Given the description of an element on the screen output the (x, y) to click on. 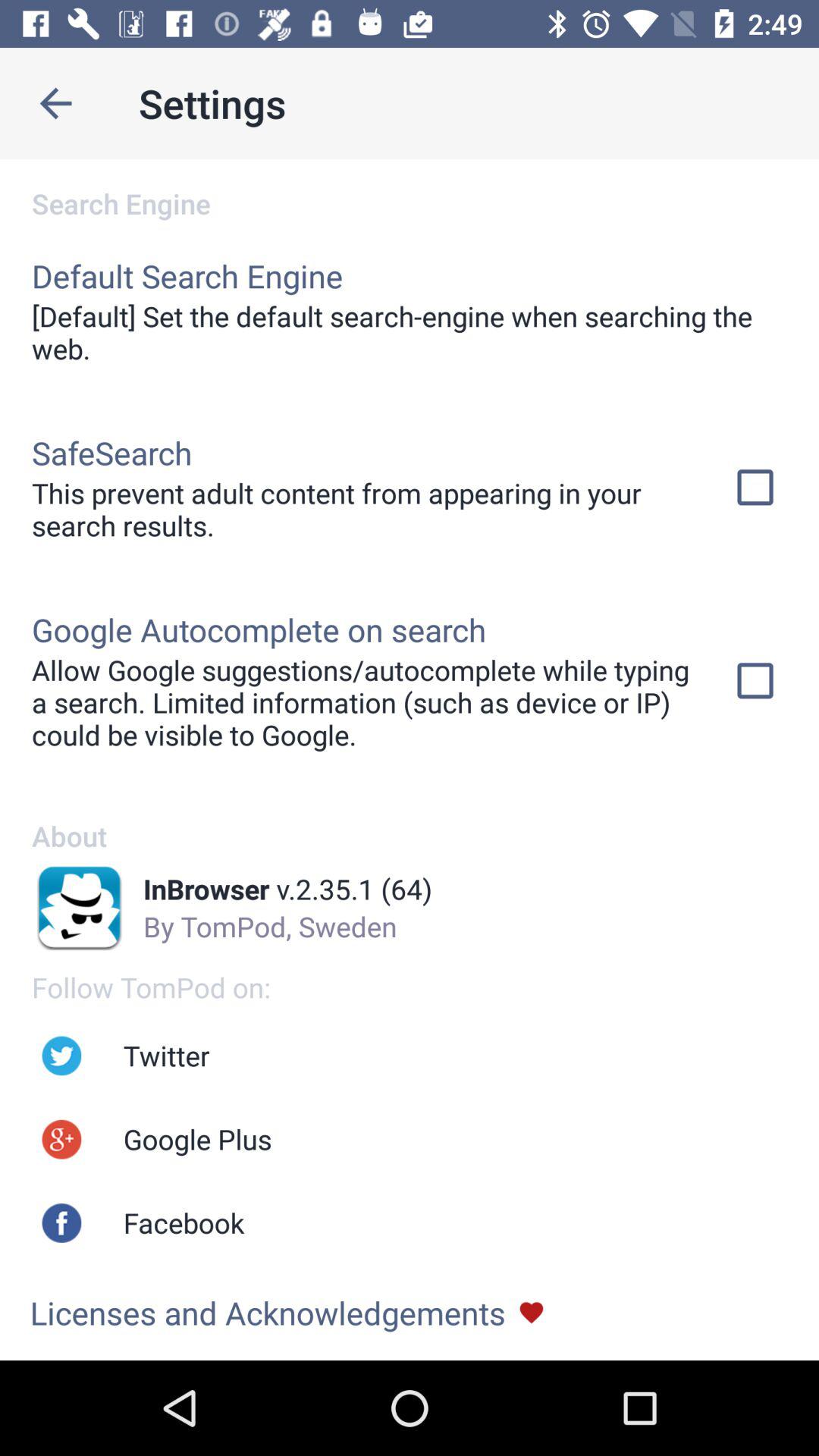
go previous (55, 103)
